Given the description of an element on the screen output the (x, y) to click on. 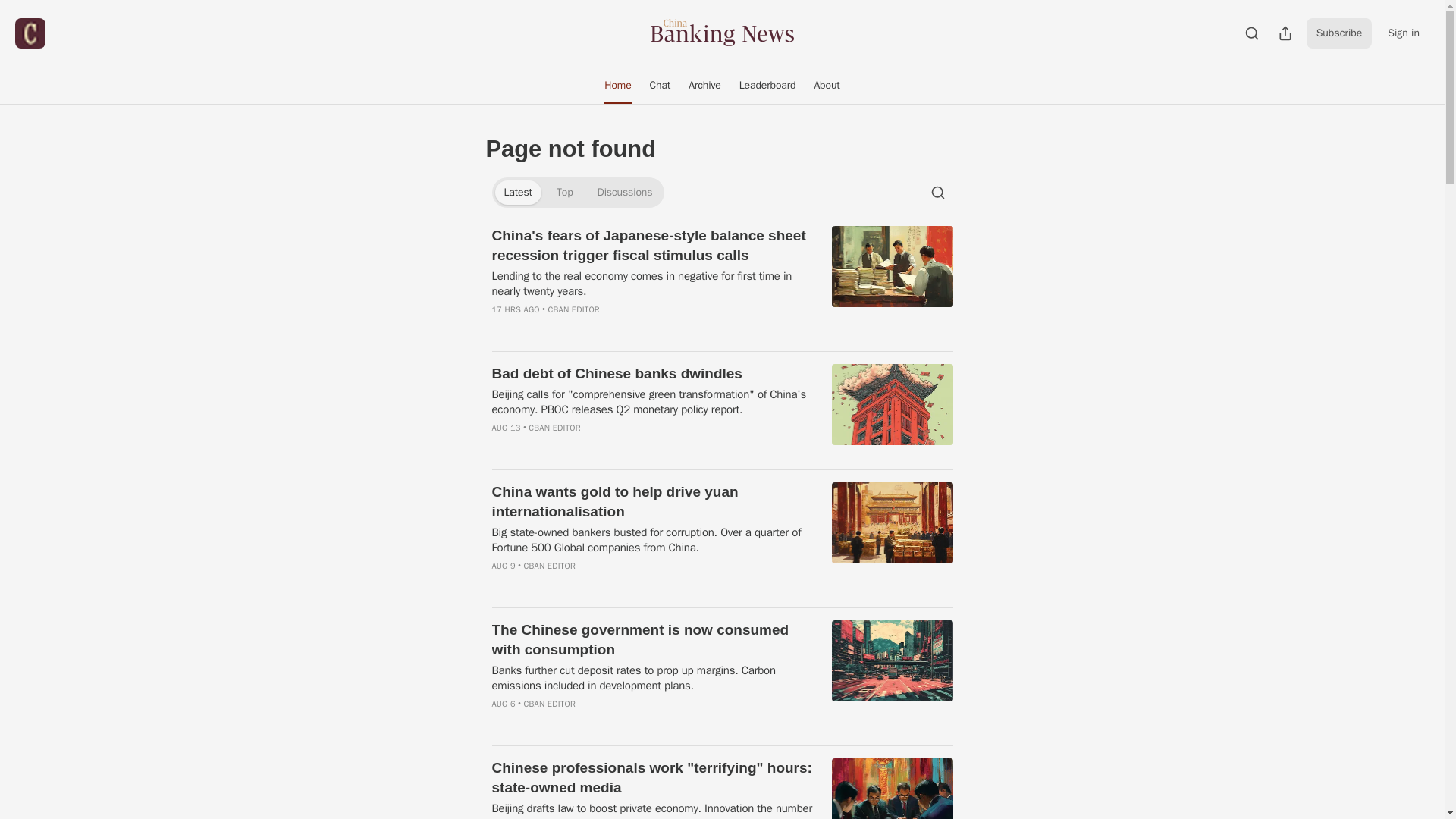
Sign in (1403, 33)
Discussions (625, 192)
Latest (517, 192)
CBAN EDITOR (573, 308)
Archive (704, 85)
Top (564, 192)
CBAN EDITOR (553, 427)
